Given the description of an element on the screen output the (x, y) to click on. 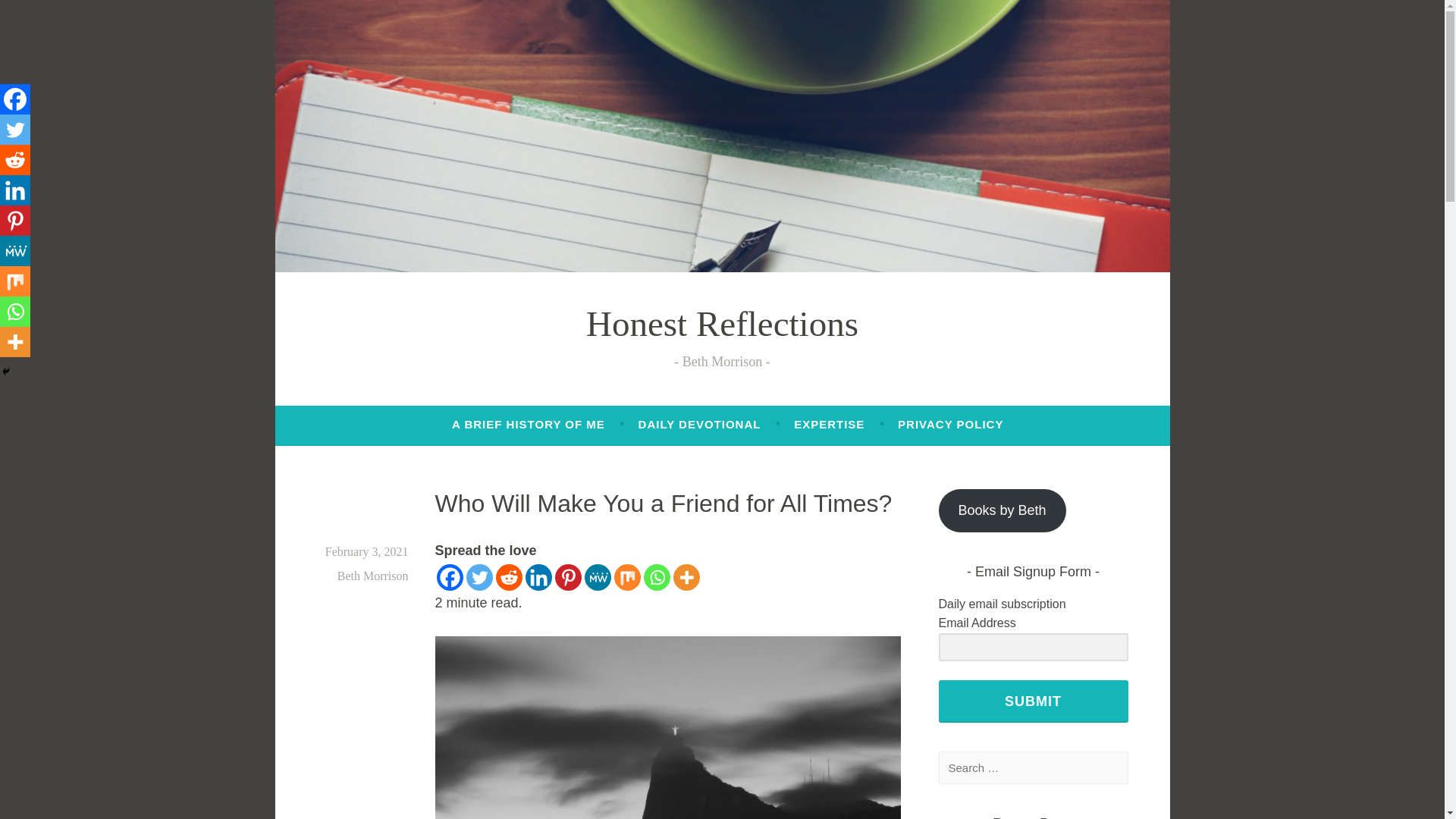
Whatsapp (656, 577)
Reddit (509, 577)
February 3, 2021 (366, 551)
More (686, 577)
Books by Beth (1002, 510)
Reddit (15, 159)
Twitter (15, 129)
Honest Reflections (722, 323)
Facebook (15, 99)
Mix (627, 577)
